Given the description of an element on the screen output the (x, y) to click on. 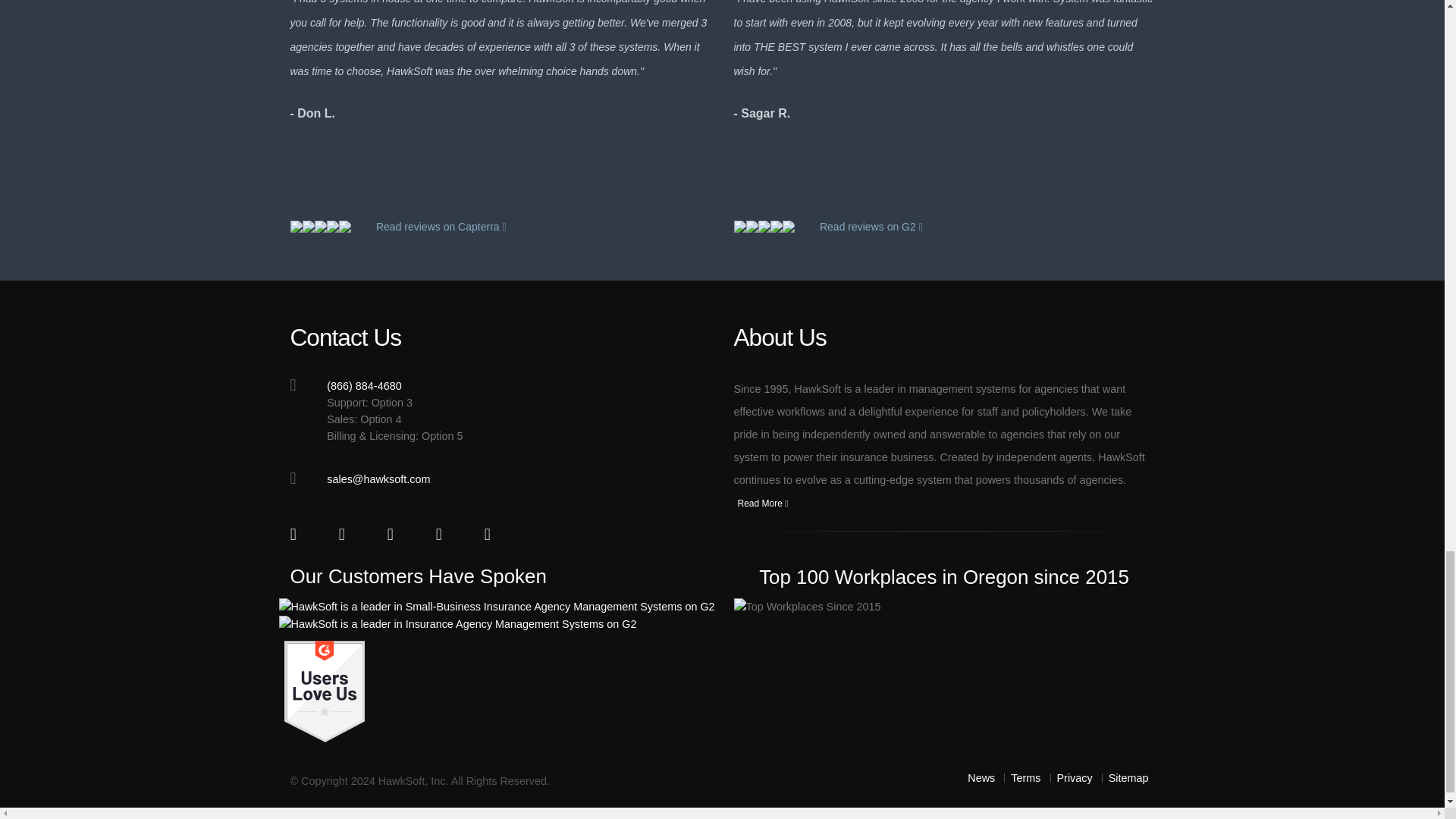
Newsletter (494, 535)
Users love HawkSoft on G2 (324, 690)
Linkedin (398, 535)
Twitter (349, 535)
Instagram (446, 535)
Facebook (301, 535)
